Given the description of an element on the screen output the (x, y) to click on. 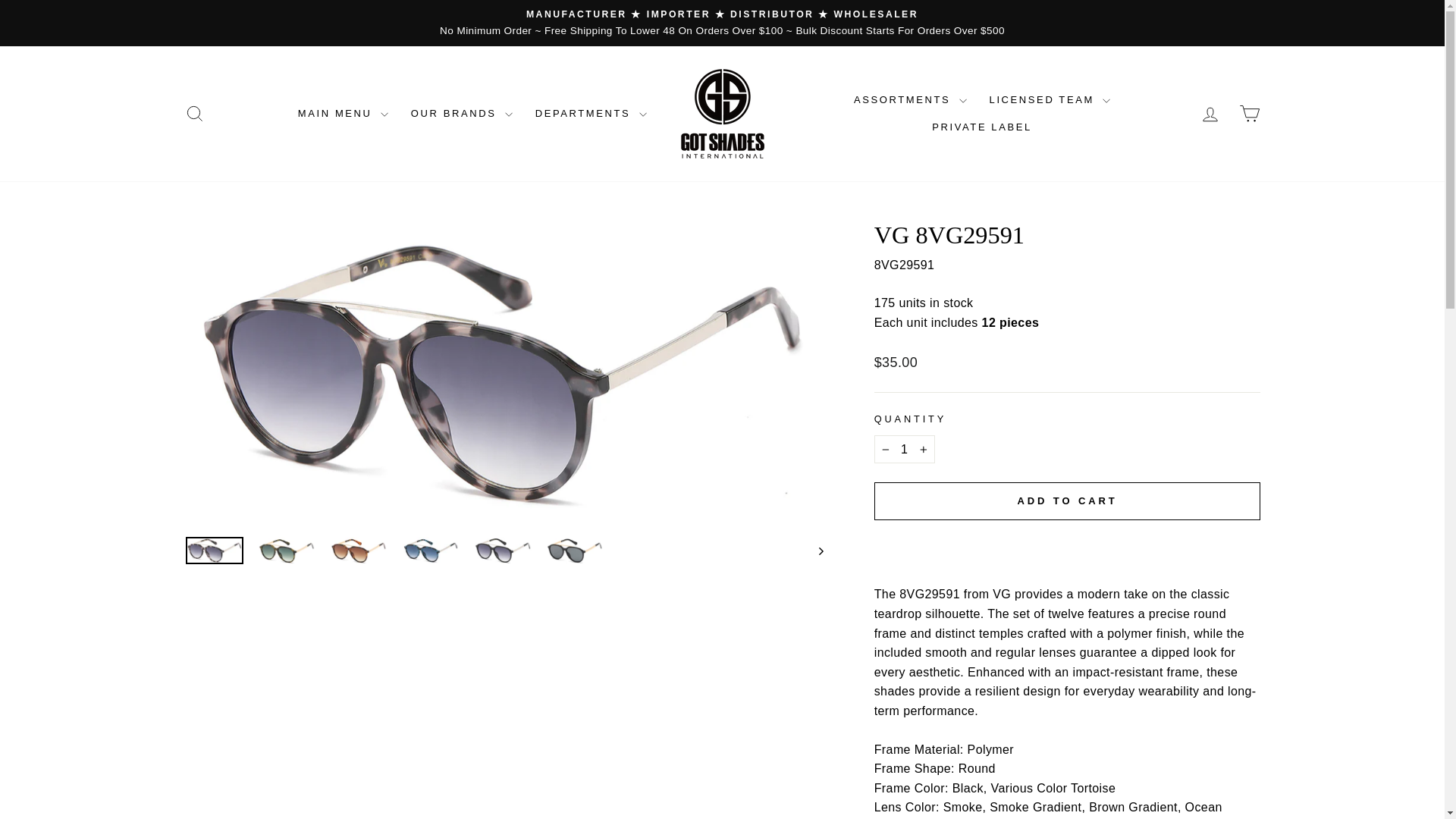
1 (904, 449)
ACCOUNT (1210, 114)
ICON-SEARCH (194, 113)
